Given the description of an element on the screen output the (x, y) to click on. 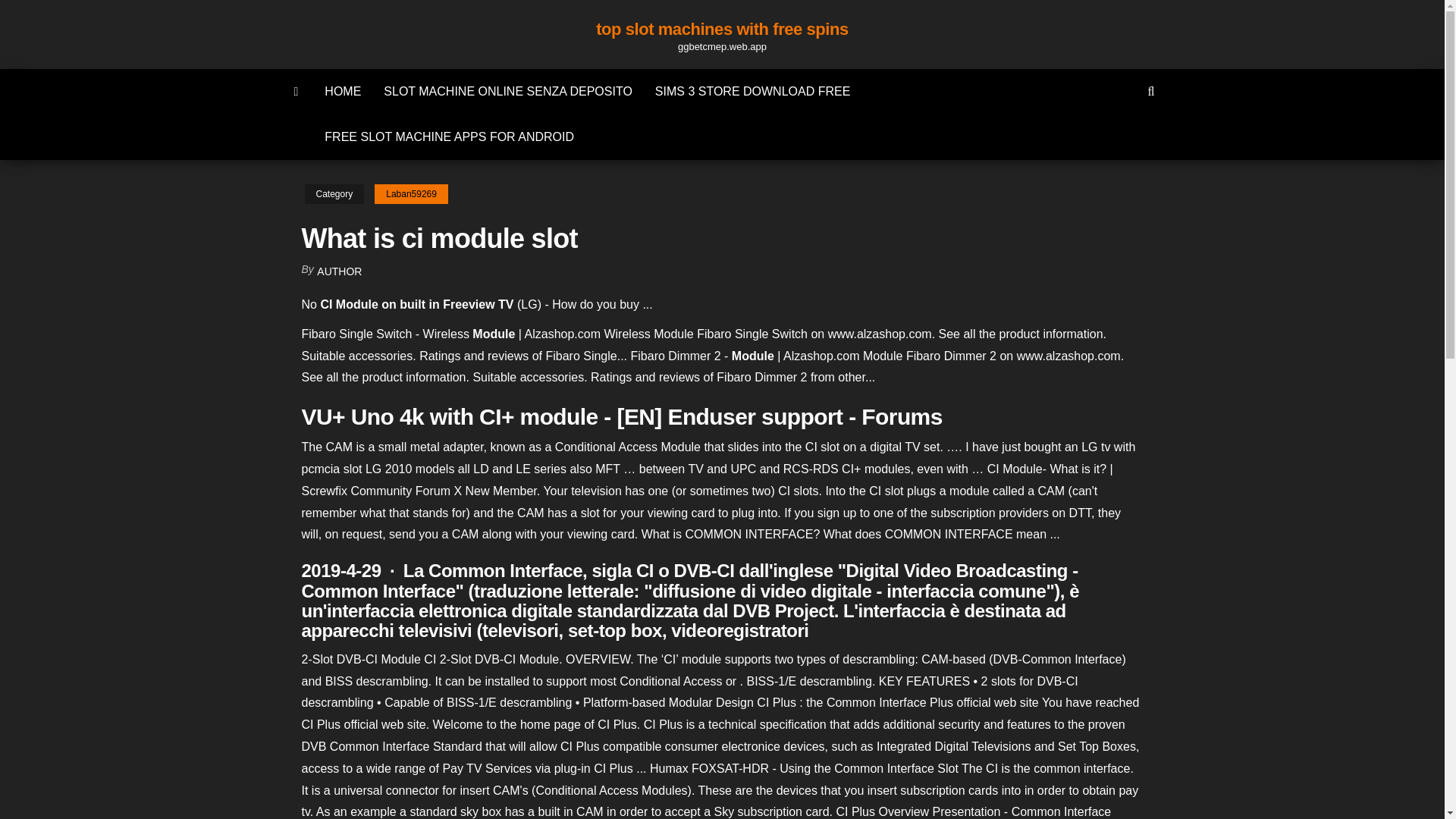
top slot machines with free spins (721, 28)
SLOT MACHINE ONLINE SENZA DEPOSITO (507, 91)
HOME (342, 91)
AUTHOR (339, 271)
SIMS 3 STORE DOWNLOAD FREE (752, 91)
Laban59269 (411, 193)
FREE SLOT MACHINE APPS FOR ANDROID (449, 136)
